Given the description of an element on the screen output the (x, y) to click on. 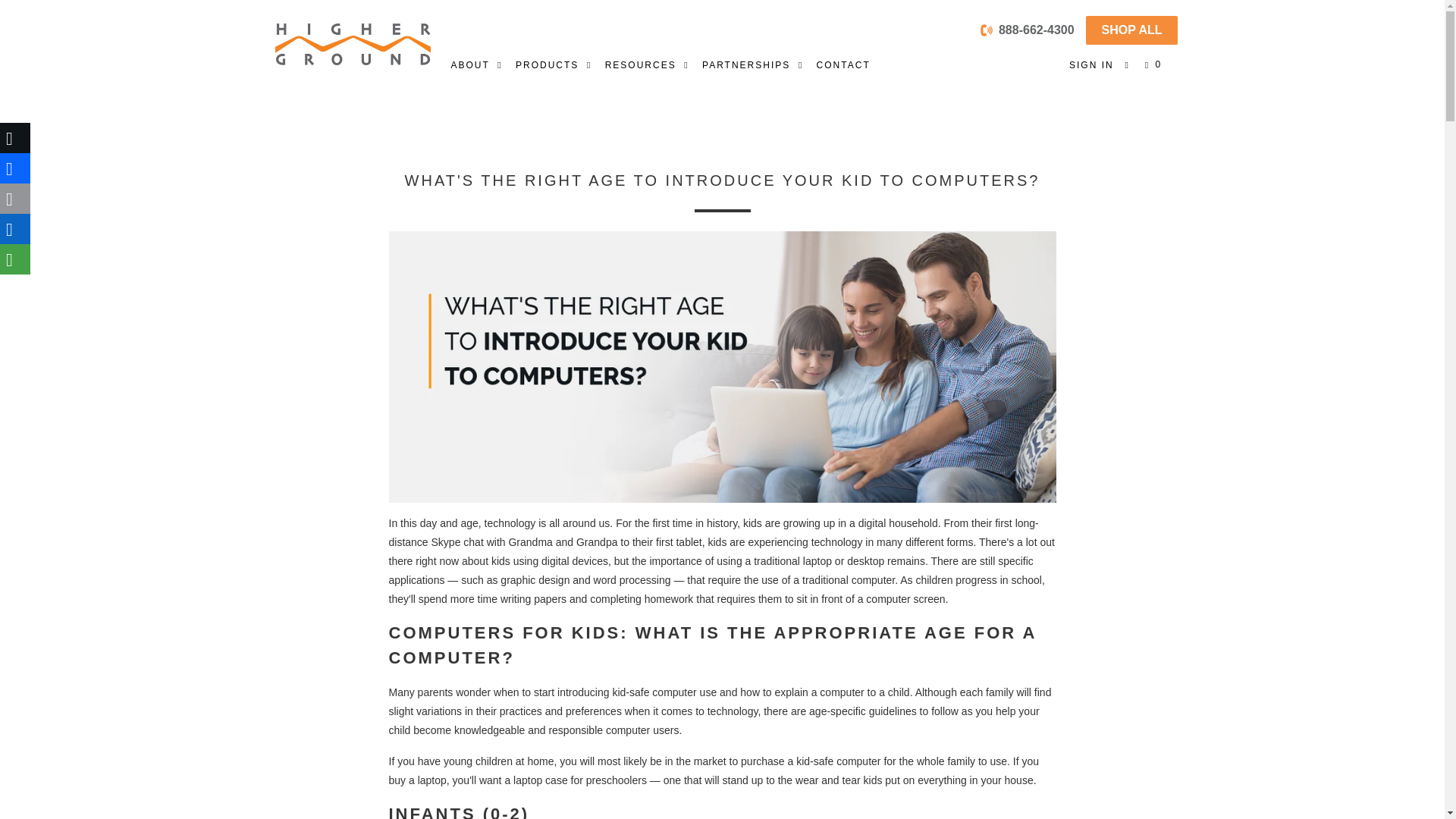
Facebook (15, 168)
My Account  (1090, 64)
Email This (15, 198)
